Given the description of an element on the screen output the (x, y) to click on. 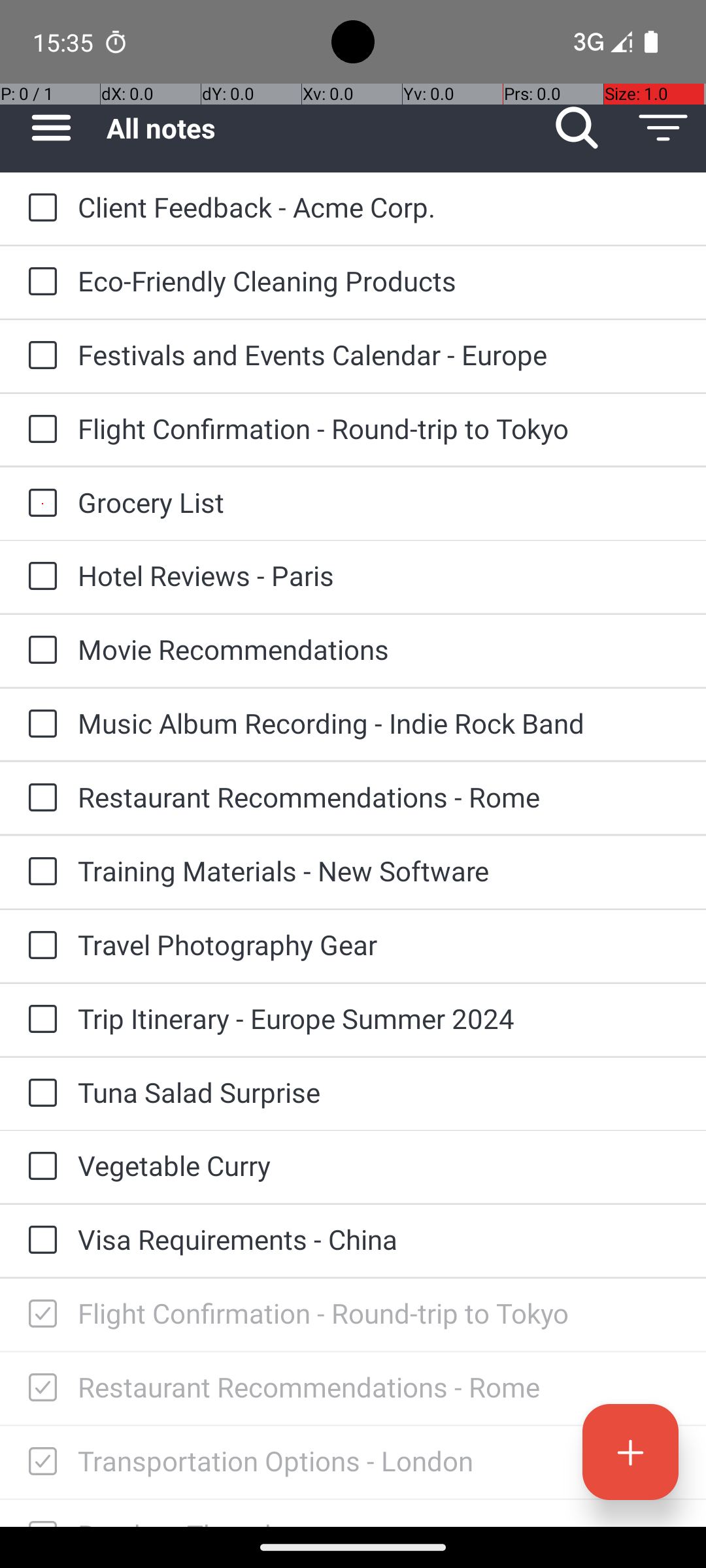
to-do: Festivals and Events Calendar - Europe Element type: android.widget.CheckBox (38, 356)
Festivals and Events Calendar - Europe Element type: android.widget.TextView (378, 354)
to-do: Movie Recommendations Element type: android.widget.CheckBox (38, 650)
Movie Recommendations Element type: android.widget.TextView (378, 648)
to-do: Training Materials - New Software Element type: android.widget.CheckBox (38, 872)
Training Materials - New Software Element type: android.widget.TextView (378, 870)
to-do: Travel Photography Gear Element type: android.widget.CheckBox (38, 945)
Travel Photography Gear Element type: android.widget.TextView (378, 944)
to-do: Trip Itinerary - Europe Summer 2024 Element type: android.widget.CheckBox (38, 1019)
Trip Itinerary - Europe Summer 2024 Element type: android.widget.TextView (378, 1017)
to-do: Tuna Salad Surprise Element type: android.widget.CheckBox (38, 1093)
Tuna Salad Surprise Element type: android.widget.TextView (378, 1091)
to-do: Vegetable Curry Element type: android.widget.CheckBox (38, 1166)
to-do: Visa Requirements - China Element type: android.widget.CheckBox (38, 1240)
Visa Requirements - China Element type: android.widget.TextView (378, 1238)
to-do: Transportation Options - London Element type: android.widget.CheckBox (38, 1462)
to-do: Random Thoughts Element type: android.widget.CheckBox (38, 1513)
